Given the description of an element on the screen output the (x, y) to click on. 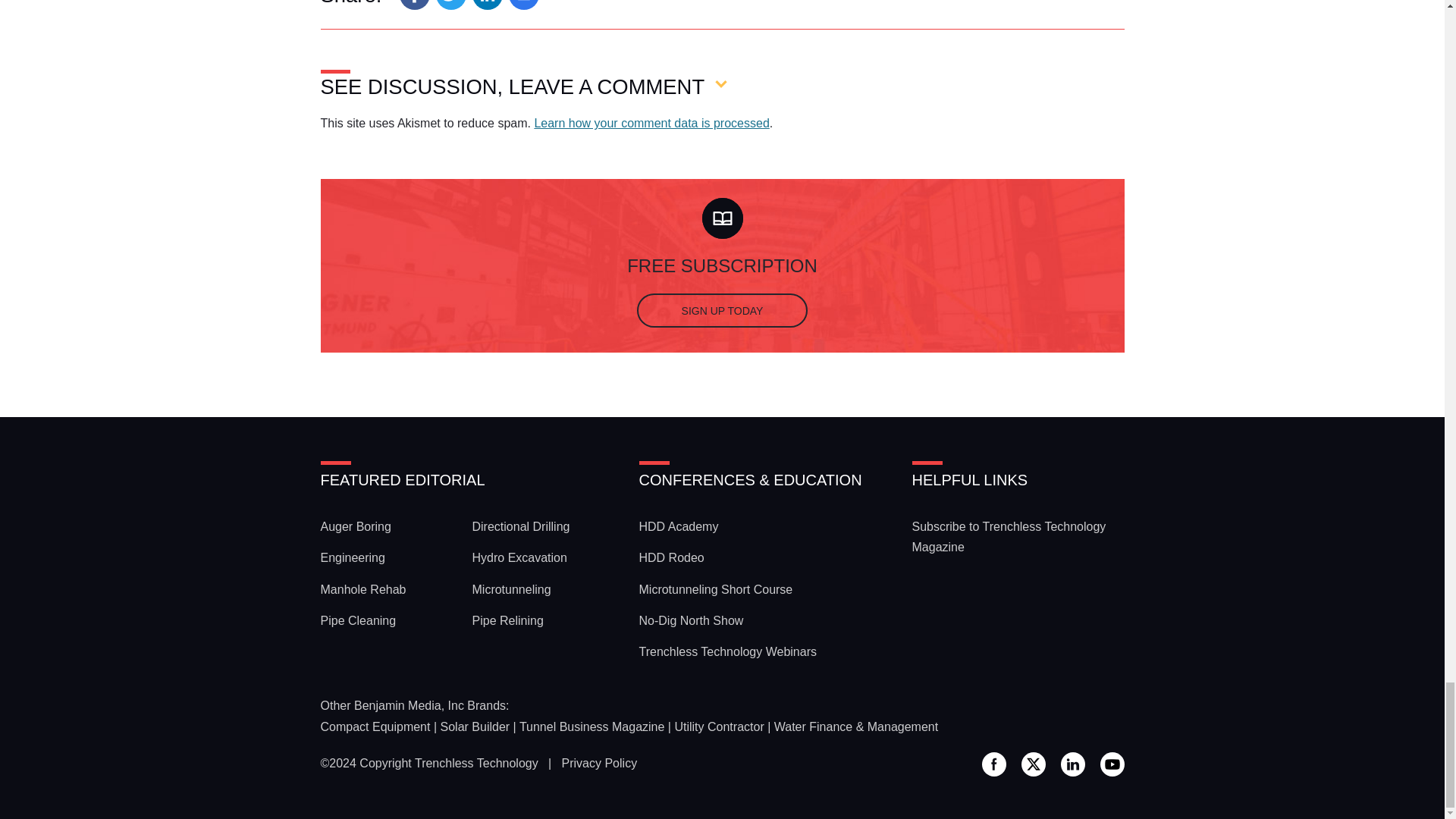
Twitter (450, 4)
Facebook (414, 4)
Horizontal Directional Drilling (520, 526)
LinkedIn (486, 4)
Privacy Policy (599, 762)
Email (523, 4)
